Given the description of an element on the screen output the (x, y) to click on. 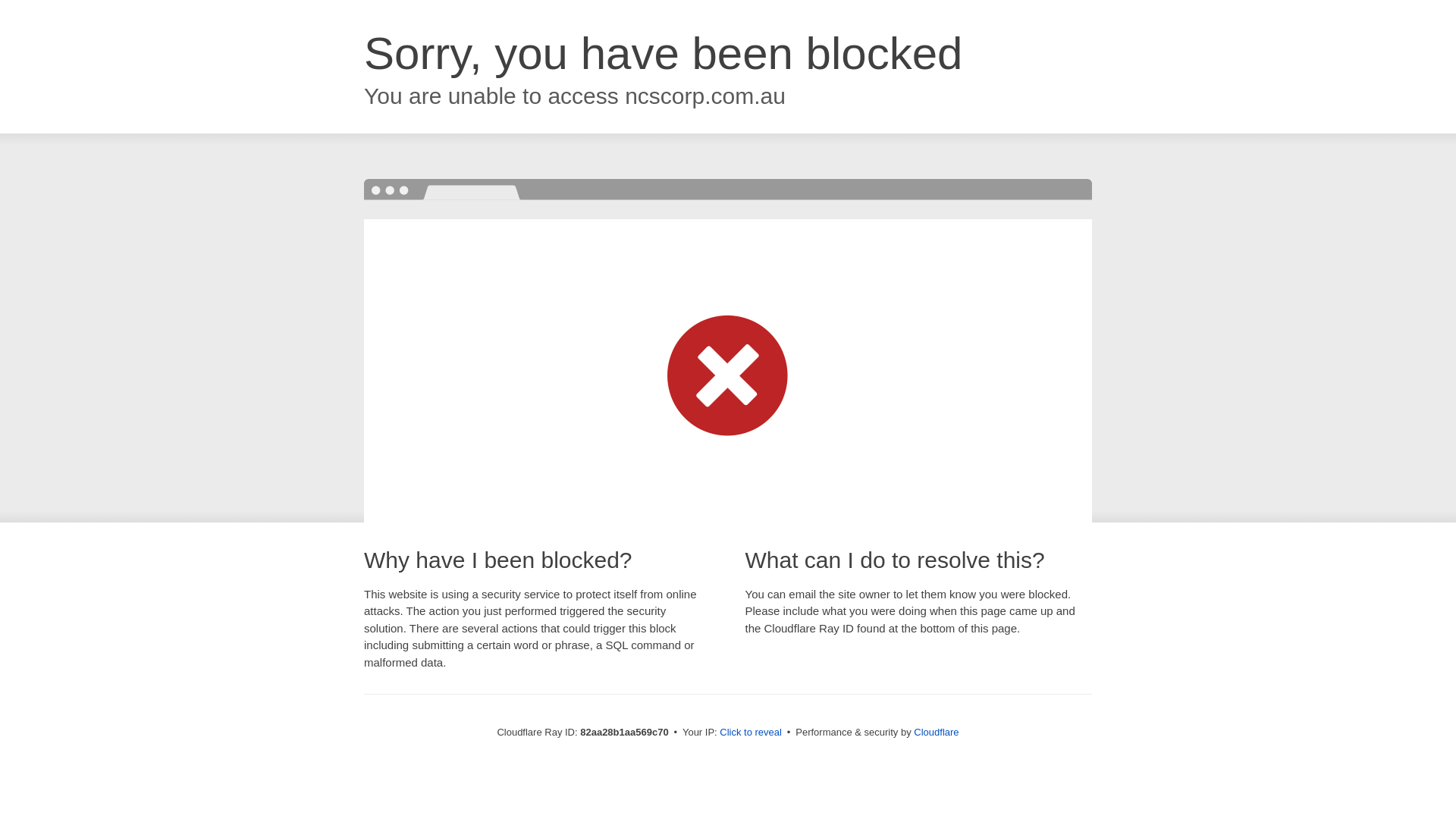
Click to reveal Element type: text (750, 732)
Cloudflare Element type: text (935, 731)
